Given the description of an element on the screen output the (x, y) to click on. 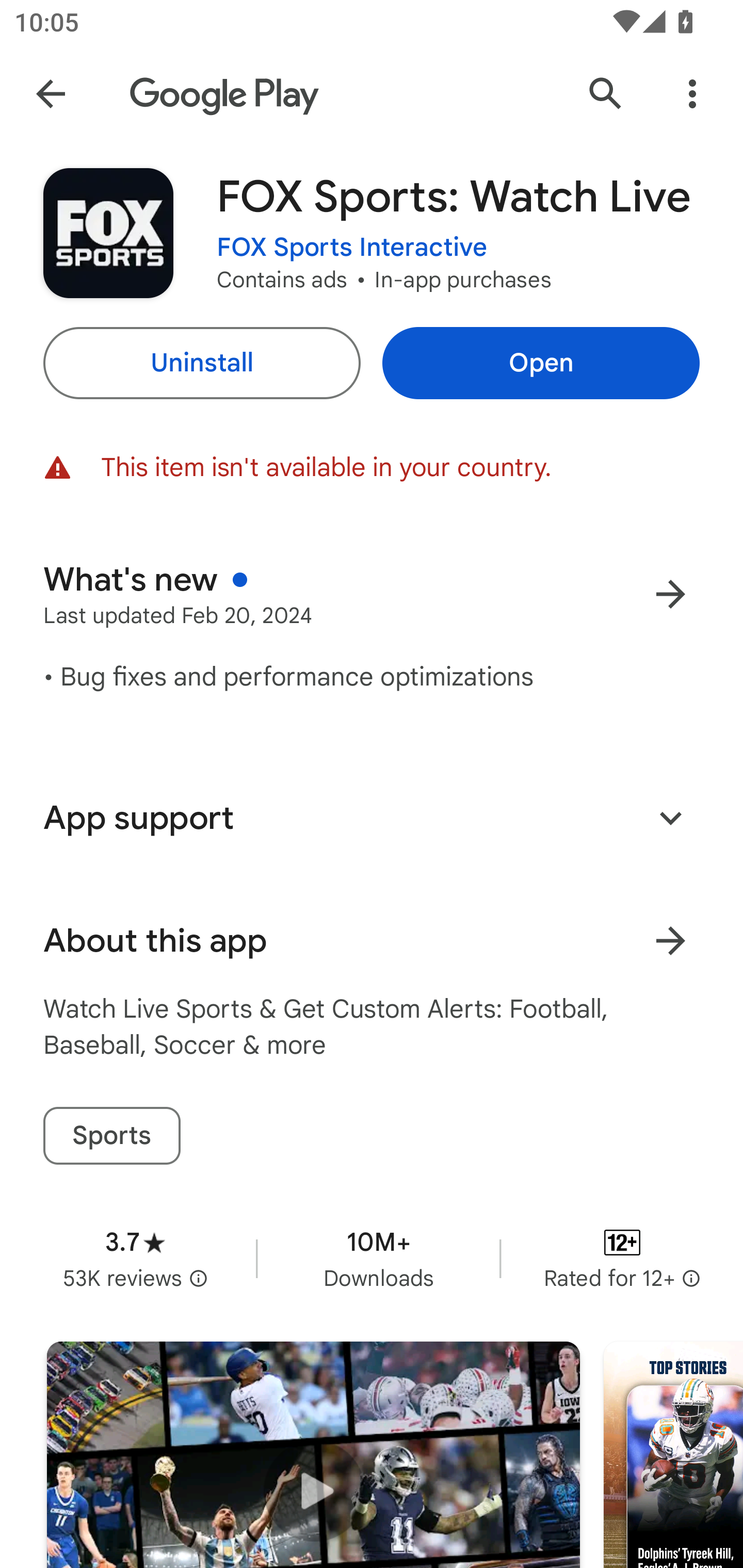
Navigate up (50, 93)
Search Google Play (605, 93)
More Options (692, 93)
FOX Sports Interactive (351, 247)
Uninstall (201, 362)
Open (540, 362)
More results for What's new (670, 594)
App support Expand (371, 817)
Expand (670, 817)
About this app Learn more About this app (371, 940)
Learn more About this app (670, 940)
Sports tag (111, 1135)
Average rating 3.7 stars in 53 thousand reviews (135, 1258)
Content rating Rated for 12+ (622, 1258)
Play trailer for "FOX Sports: Watch Live" (313, 1455)
